Given the description of an element on the screen output the (x, y) to click on. 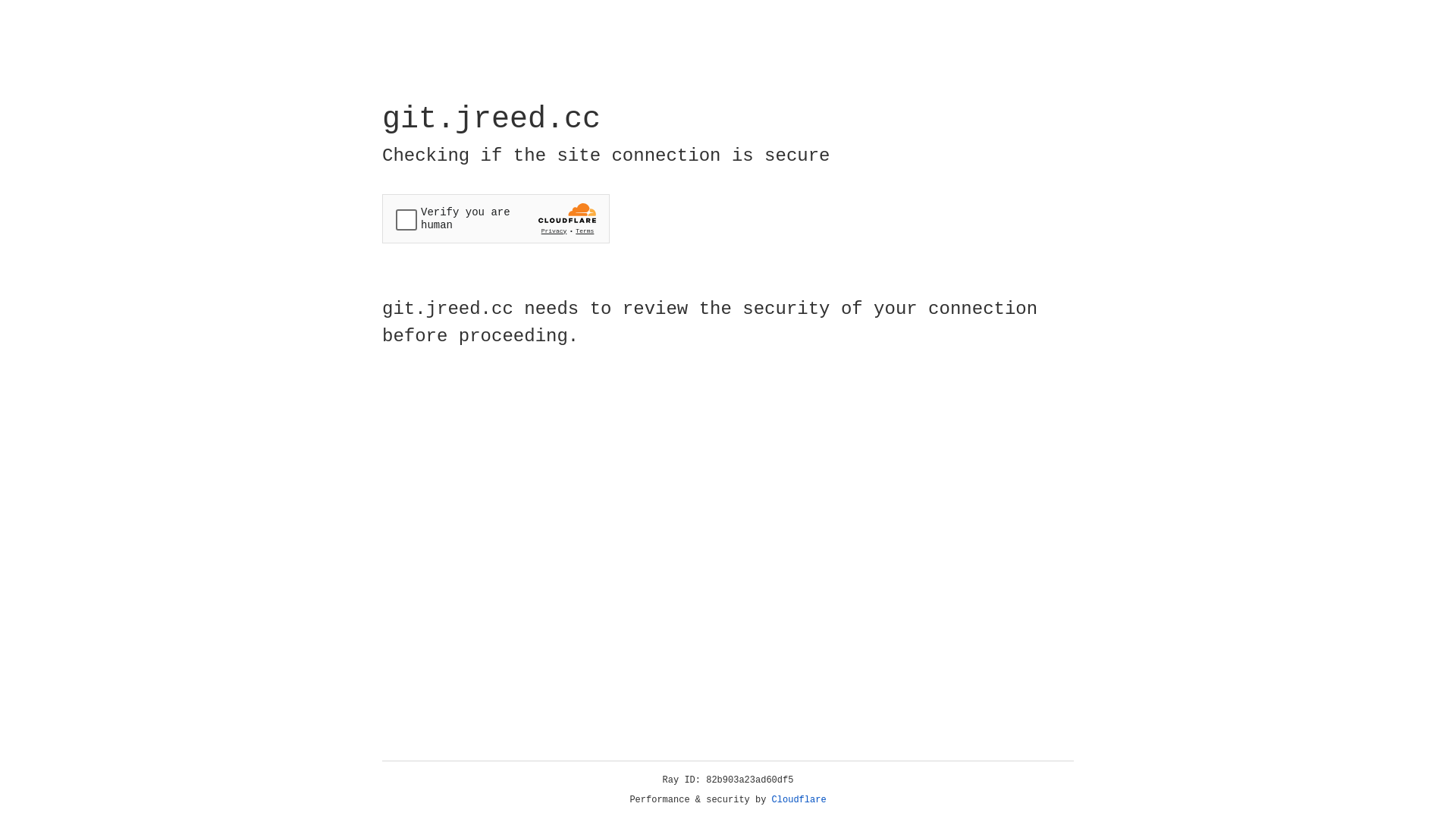
Cloudflare Element type: text (798, 799)
Widget containing a Cloudflare security challenge Element type: hover (495, 218)
